Given the description of an element on the screen output the (x, y) to click on. 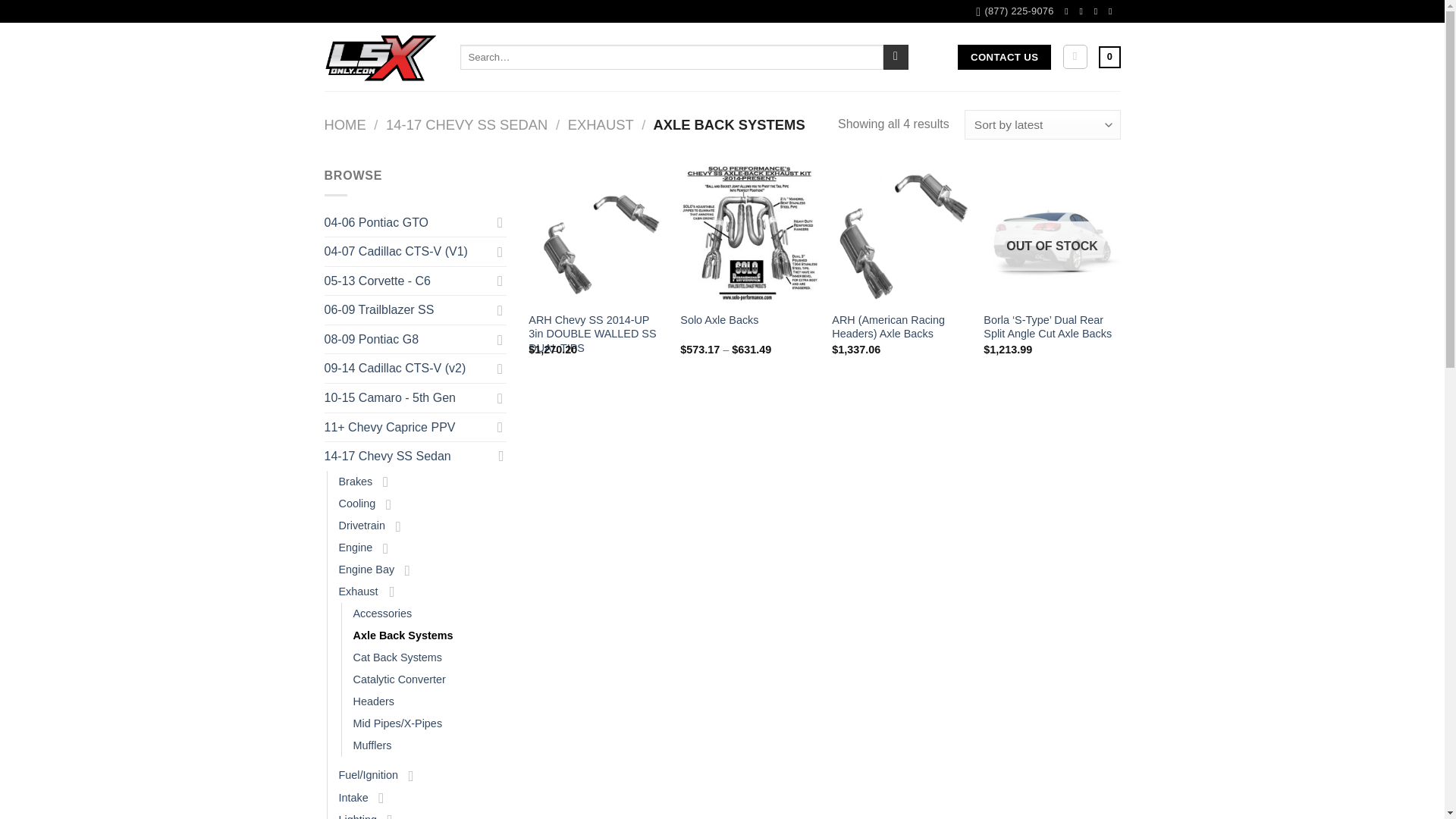
14-17 CHEVY SS SEDAN (466, 124)
EXHAUST (600, 124)
CONTACT US (1004, 57)
04-06 Pontiac GTO (407, 222)
HOME (345, 124)
Search (895, 57)
